Given the description of an element on the screen output the (x, y) to click on. 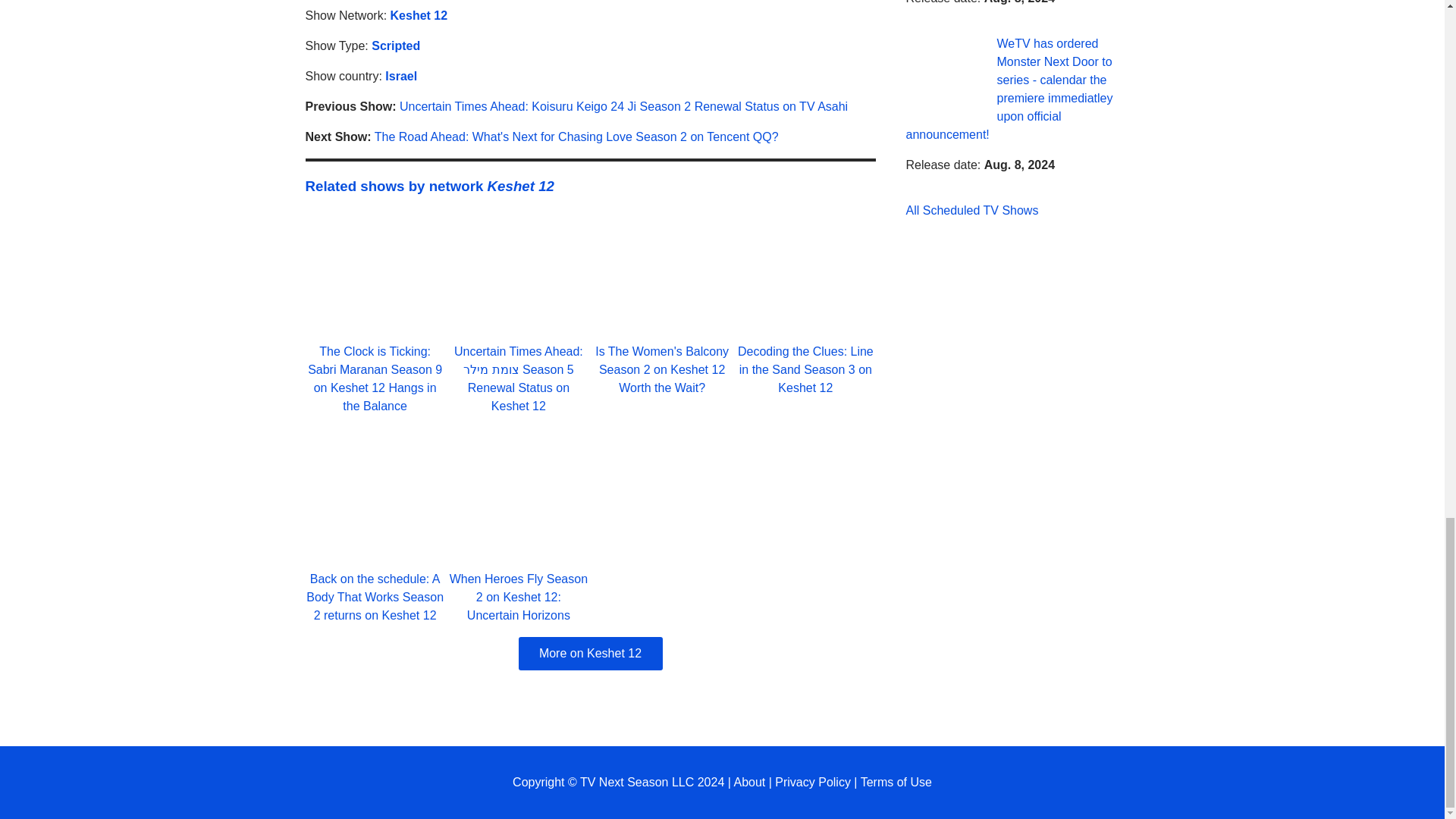
When Heroes Fly Season 2 on Keshet 12: Uncertain Horizons (518, 596)
Is The Women's Balcony Season 2 on Keshet 12 Worth the Wait? (662, 368)
Keshet 12 (419, 15)
More on Keshet 12 (590, 653)
Decoding the Clues: Line in the Sand Season 3 on Keshet 12 (805, 368)
Israel (400, 75)
Scripted (395, 45)
